Given the description of an element on the screen output the (x, y) to click on. 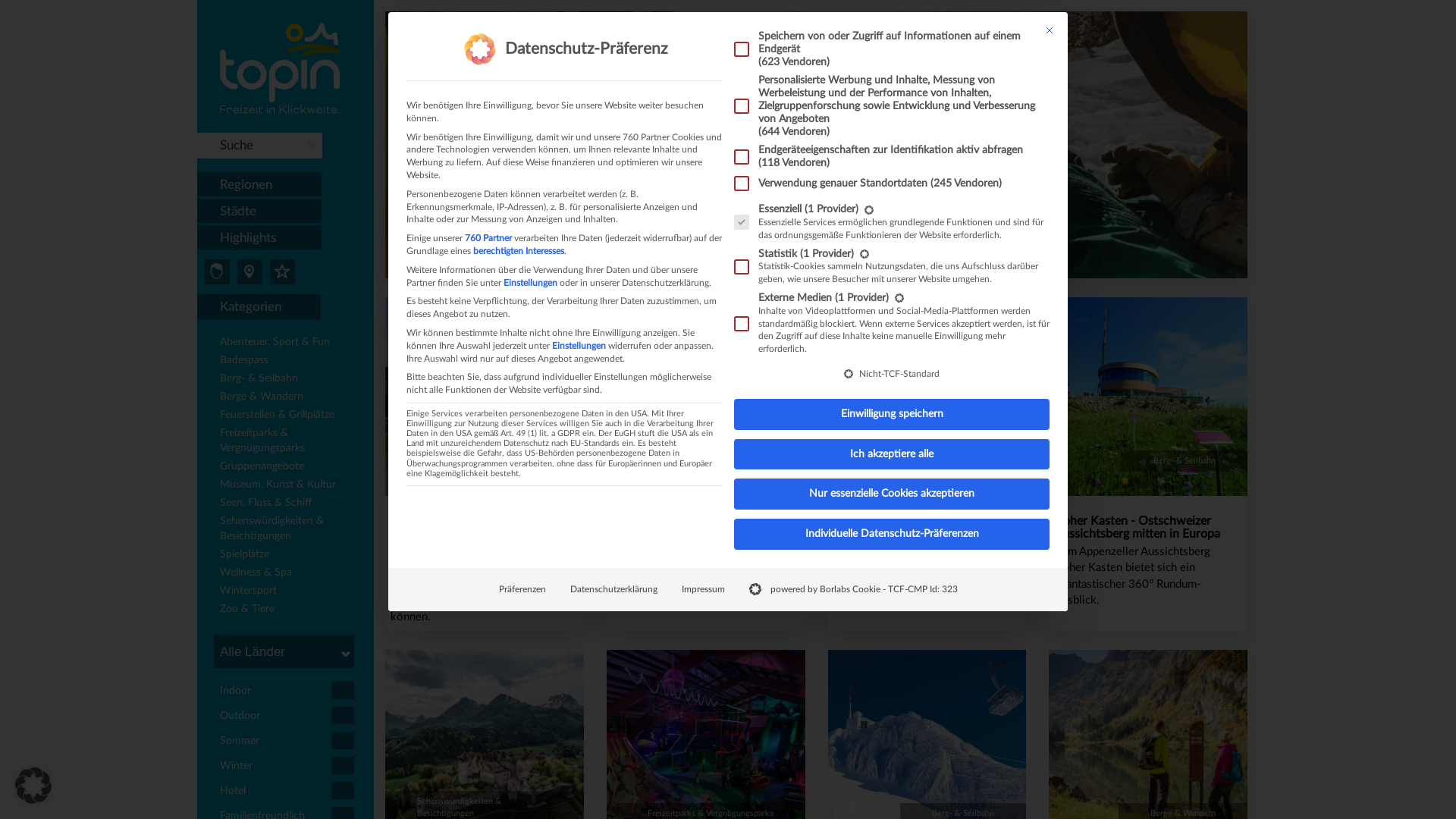
powered by Borlabs Cookie - TCF-CMP Id: 323 Element type: text (853, 589)
760 Partner Element type: text (487, 237)
Ich akzeptiere alle Element type: text (891, 454)
berechtigten Interesses Element type: text (518, 250)
Einstellungen Element type: text (578, 345)
Gruppenangebote Element type: text (289, 467)
Einwilligung speichern Element type: text (891, 413)
Vorschaubild zur Seite Rundgang um den See  Element type: hover (484, 396)
Wellness & Spa Element type: text (289, 573)
Museum, Kunst & Kultur Element type: text (289, 485)
Logo Element type: hover (279, 67)
Wintersport Element type: text (289, 592)
Nur essenzielle Cookies akzeptieren Element type: text (891, 493)
Highlights Element type: text (259, 237)
Impressum Element type: text (702, 589)
Seen, Fluss & Schiff Element type: text (289, 504)
Home Element type: hover (816, 144)
Einstellungen Element type: text (530, 282)
Zoo & Tiere Element type: text (289, 610)
Abenteuer, Sport & Fun Element type: text (289, 343)
Berge & Wandern Element type: text (289, 398)
Regionen Element type: text (259, 184)
Badespass Element type: text (289, 361)
Berg- & Seilbahn Element type: text (289, 379)
